Given the description of an element on the screen output the (x, y) to click on. 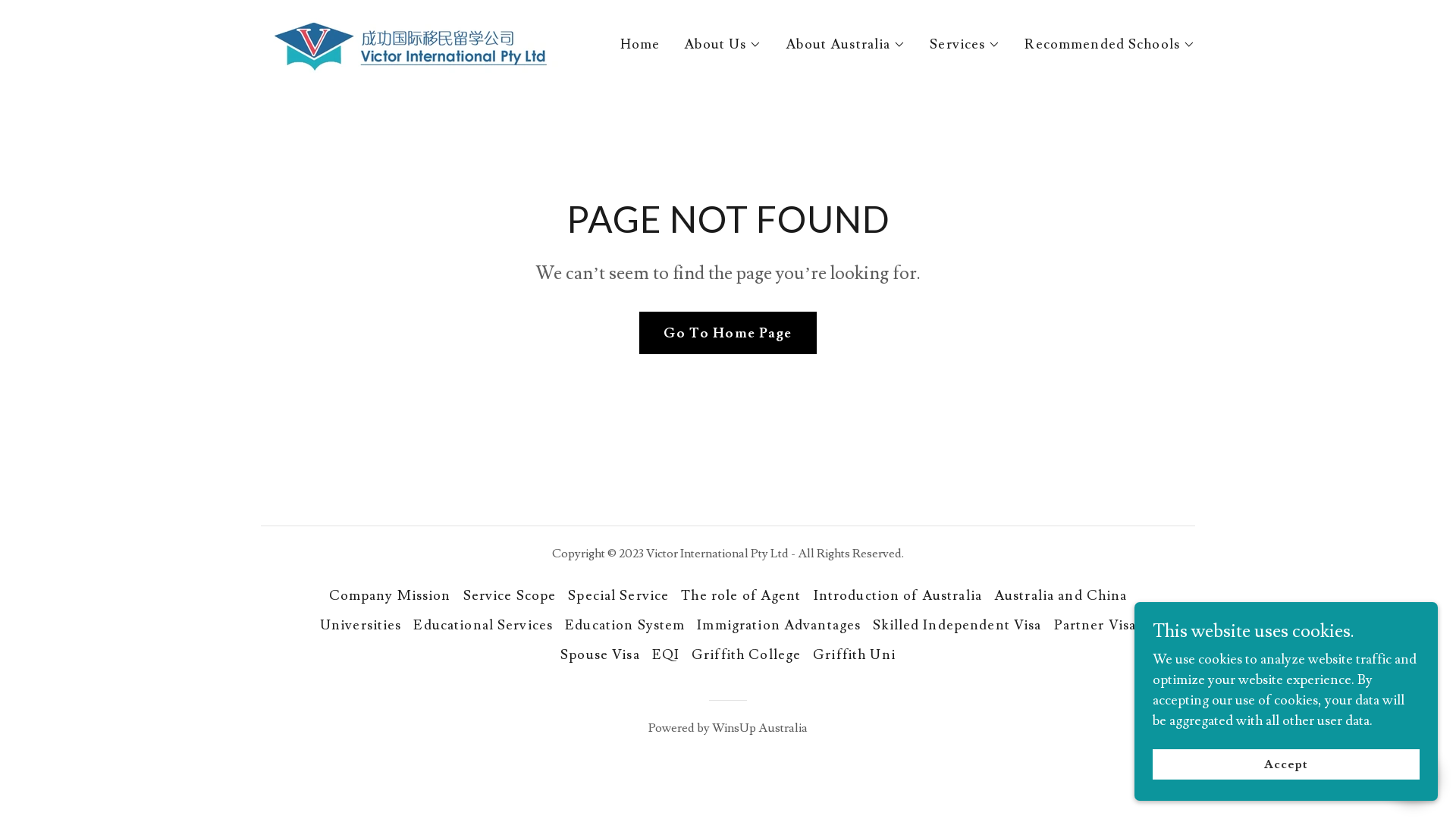
Home Element type: text (640, 44)
Company Mission Element type: text (390, 595)
The role of Agent Element type: text (740, 595)
Griffith College Element type: text (745, 654)
Immigration Advantages Element type: text (778, 625)
Accept Element type: text (1285, 764)
Recommended Schools Element type: text (1109, 44)
Education System Element type: text (624, 625)
Partner Visa Element type: text (1095, 625)
About Australia Element type: text (845, 44)
Victor International Pty Ltd Element type: hover (409, 39)
Educational Services Element type: text (482, 625)
Introduction of Australia Element type: text (897, 595)
Australia and China Element type: text (1060, 595)
Special Service Element type: text (617, 595)
Service Scope Element type: text (509, 595)
Go To Home Page Element type: text (727, 332)
Services Element type: text (964, 44)
Skilled Independent Visa Element type: text (956, 625)
Griffith Uni Element type: text (853, 654)
Spouse Visa Element type: text (599, 654)
Universities Element type: text (360, 625)
EQI Element type: text (665, 654)
About Us Element type: text (722, 44)
